Given the description of an element on the screen output the (x, y) to click on. 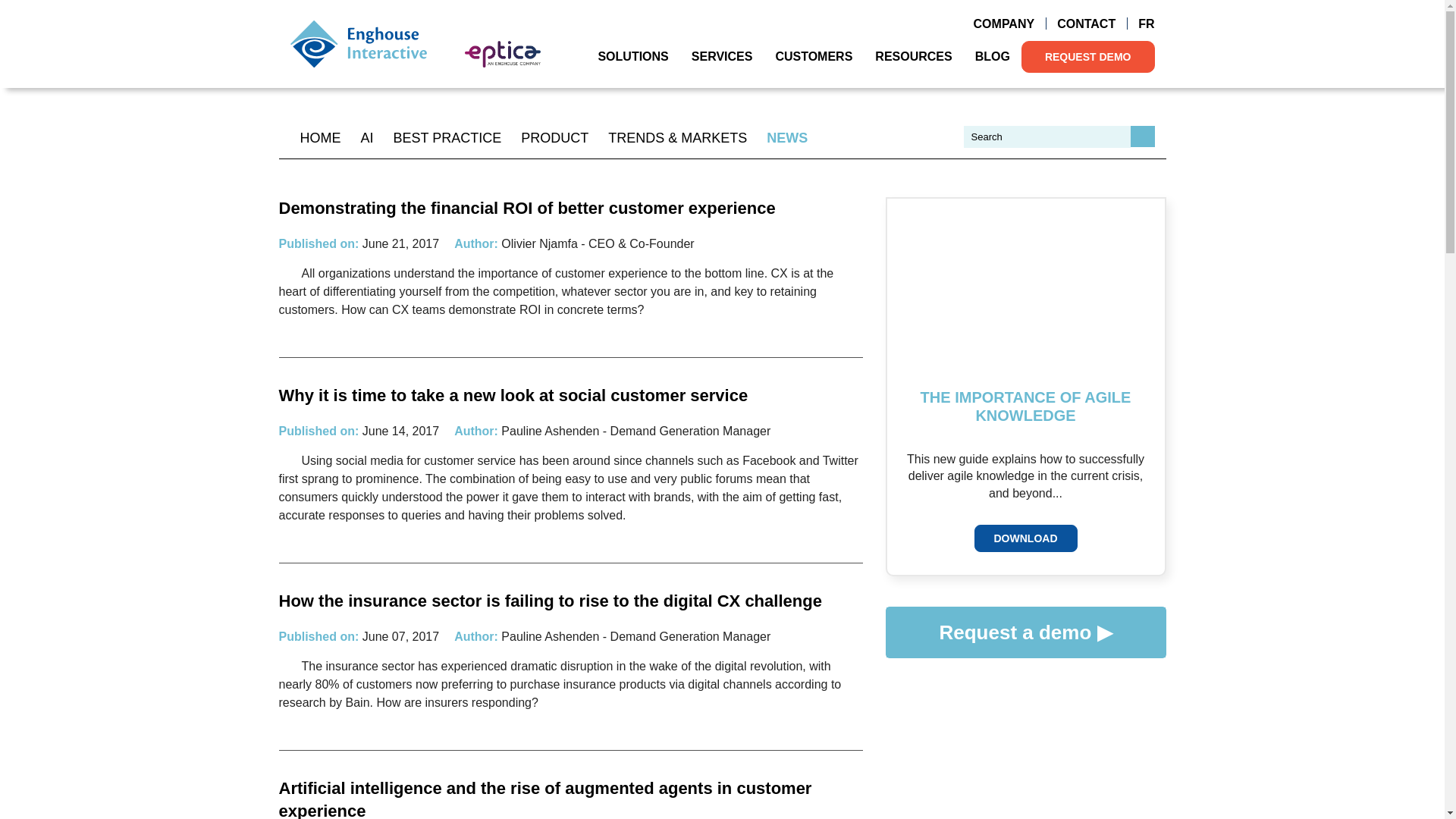
Home (357, 43)
COMPANY (1004, 24)
RESOURCES (913, 56)
SERVICES (721, 56)
CONTACT (1085, 24)
Search (1141, 136)
CUSTOMERS (812, 56)
SOLUTIONS (632, 56)
